Given the description of an element on the screen output the (x, y) to click on. 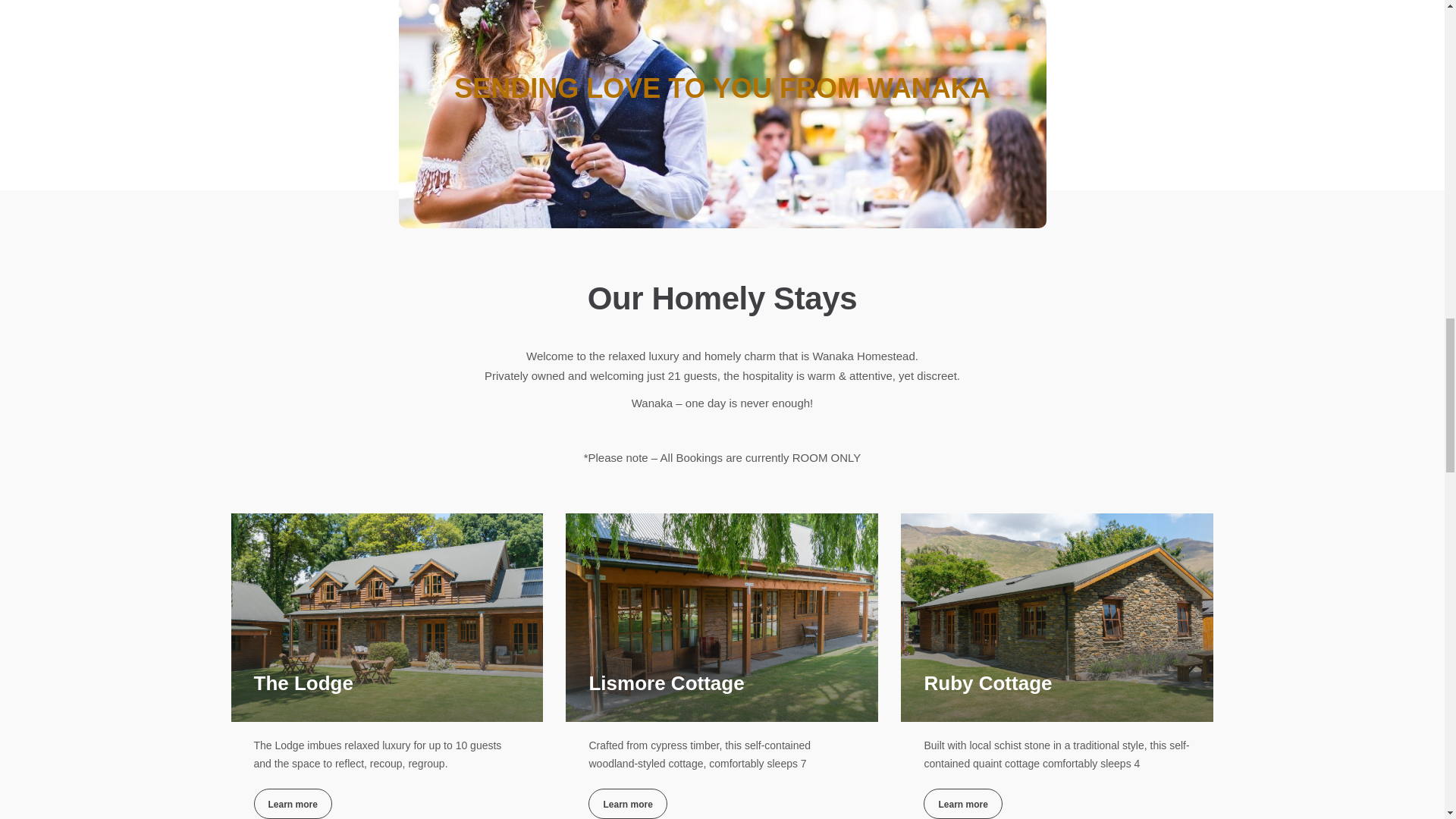
Learn more (627, 803)
Learn more (292, 803)
Learn more (962, 803)
